Given the description of an element on the screen output the (x, y) to click on. 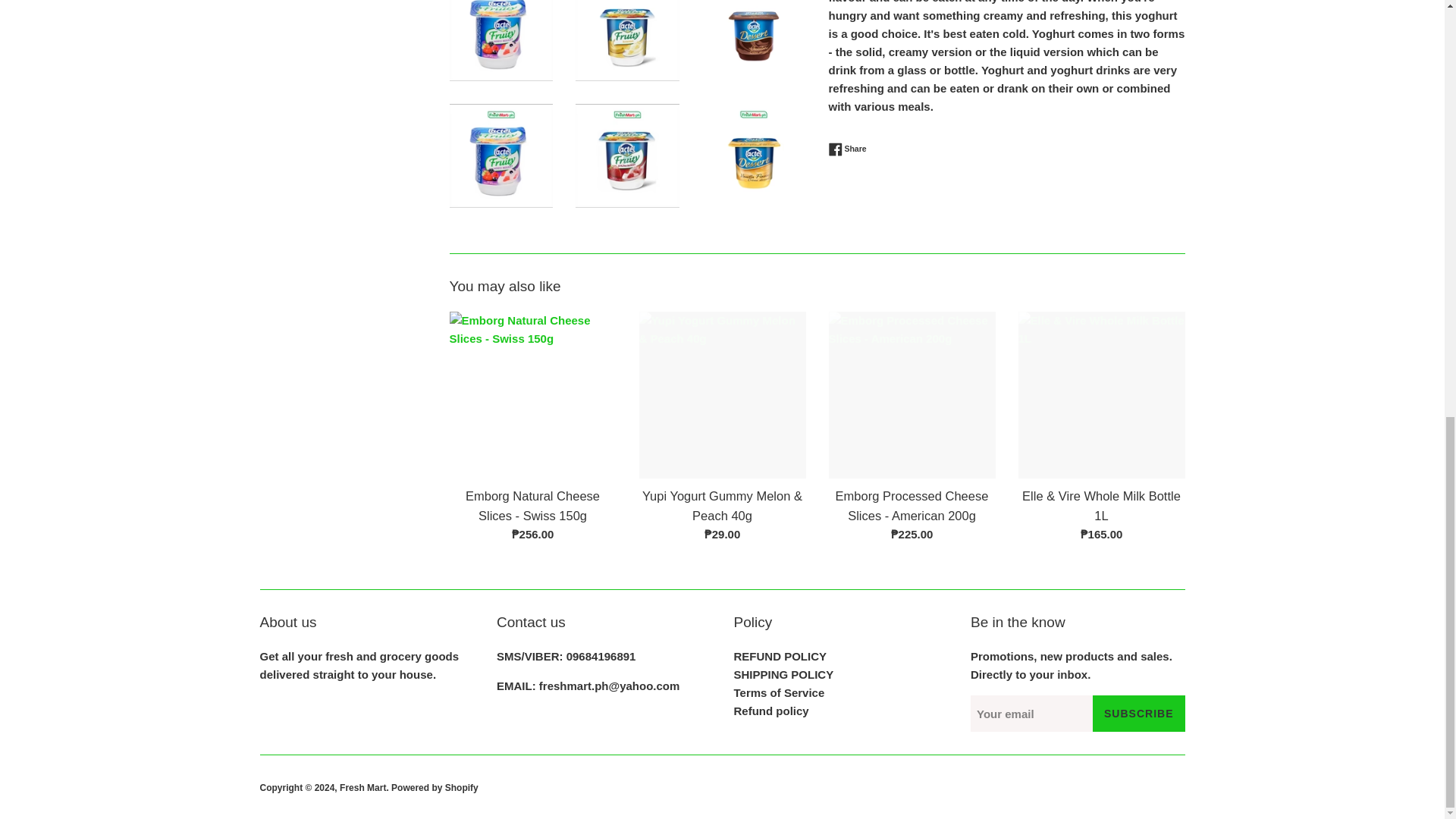
Emborg Processed Cheese Slices - American 200g (911, 395)
Share on Facebook (847, 149)
Emborg Natural Cheese Slices - Swiss 150g (531, 395)
